Given the description of an element on the screen output the (x, y) to click on. 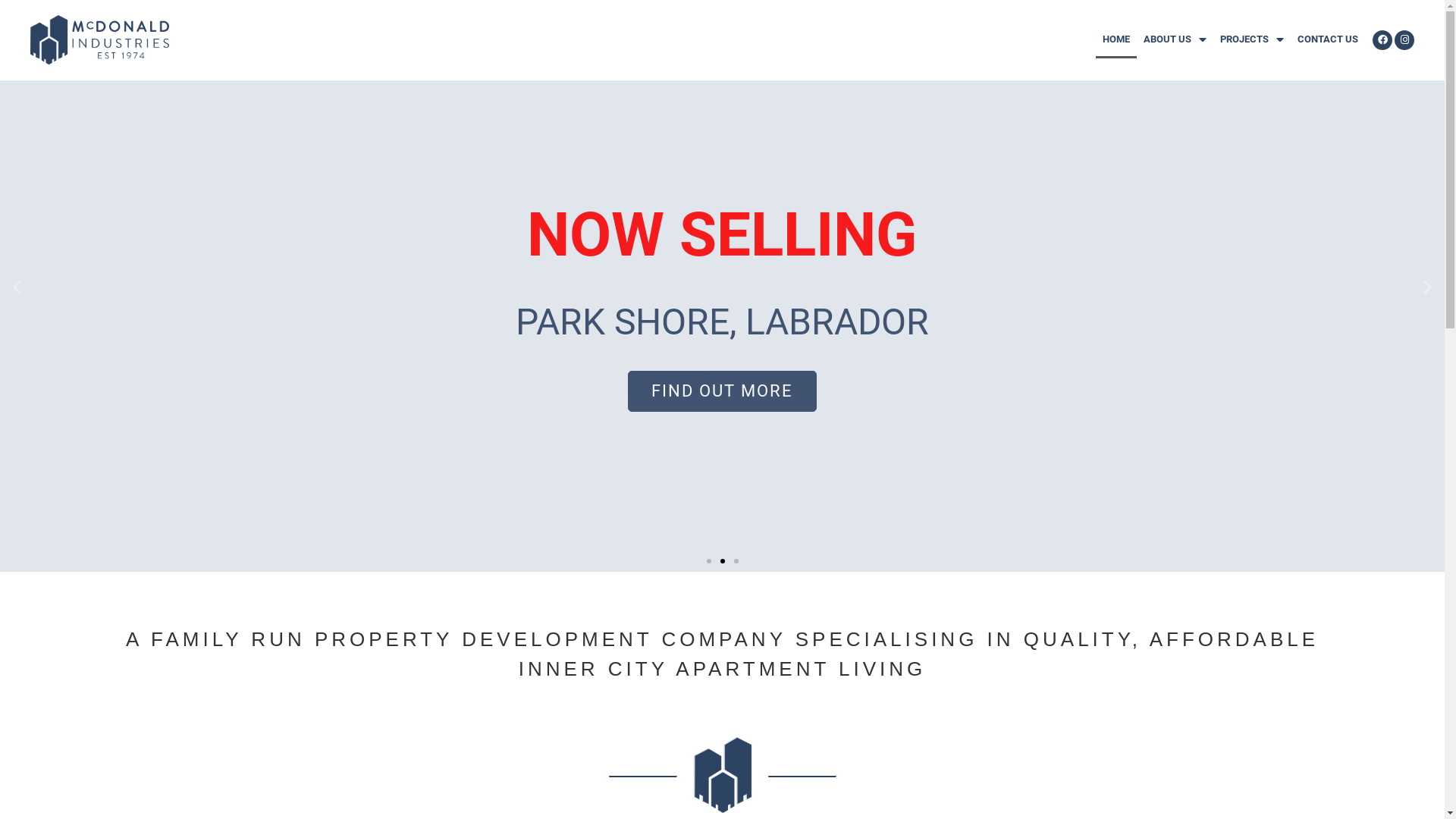
CONTACT US Element type: text (1327, 39)
ABOUT US Element type: text (1174, 39)
PROJECTS Element type: text (1251, 39)
HOME Element type: text (1115, 39)
